Given the description of an element on the screen output the (x, y) to click on. 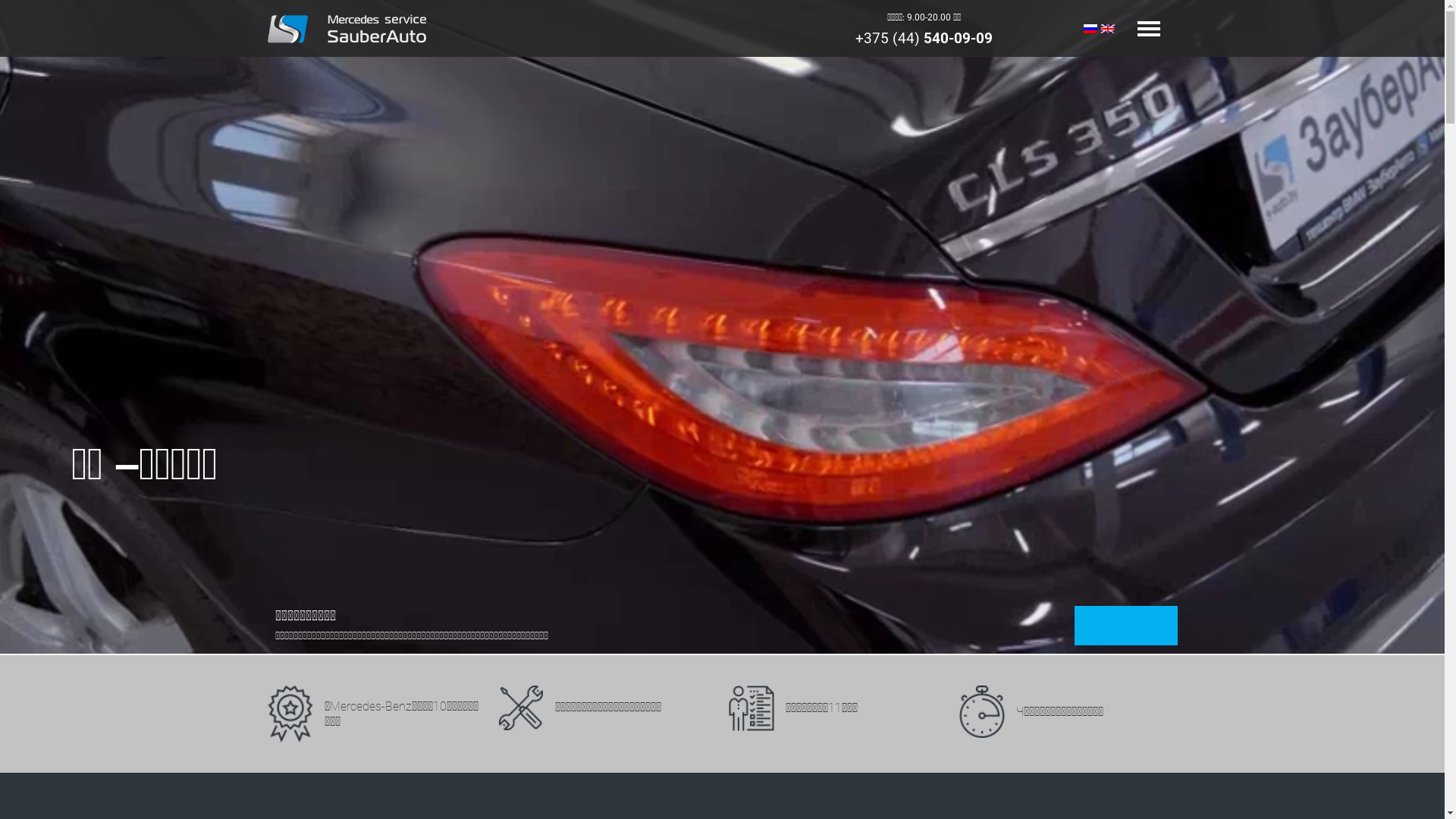
+375 (44) 540-09-09 Element type: text (923, 38)
